Given the description of an element on the screen output the (x, y) to click on. 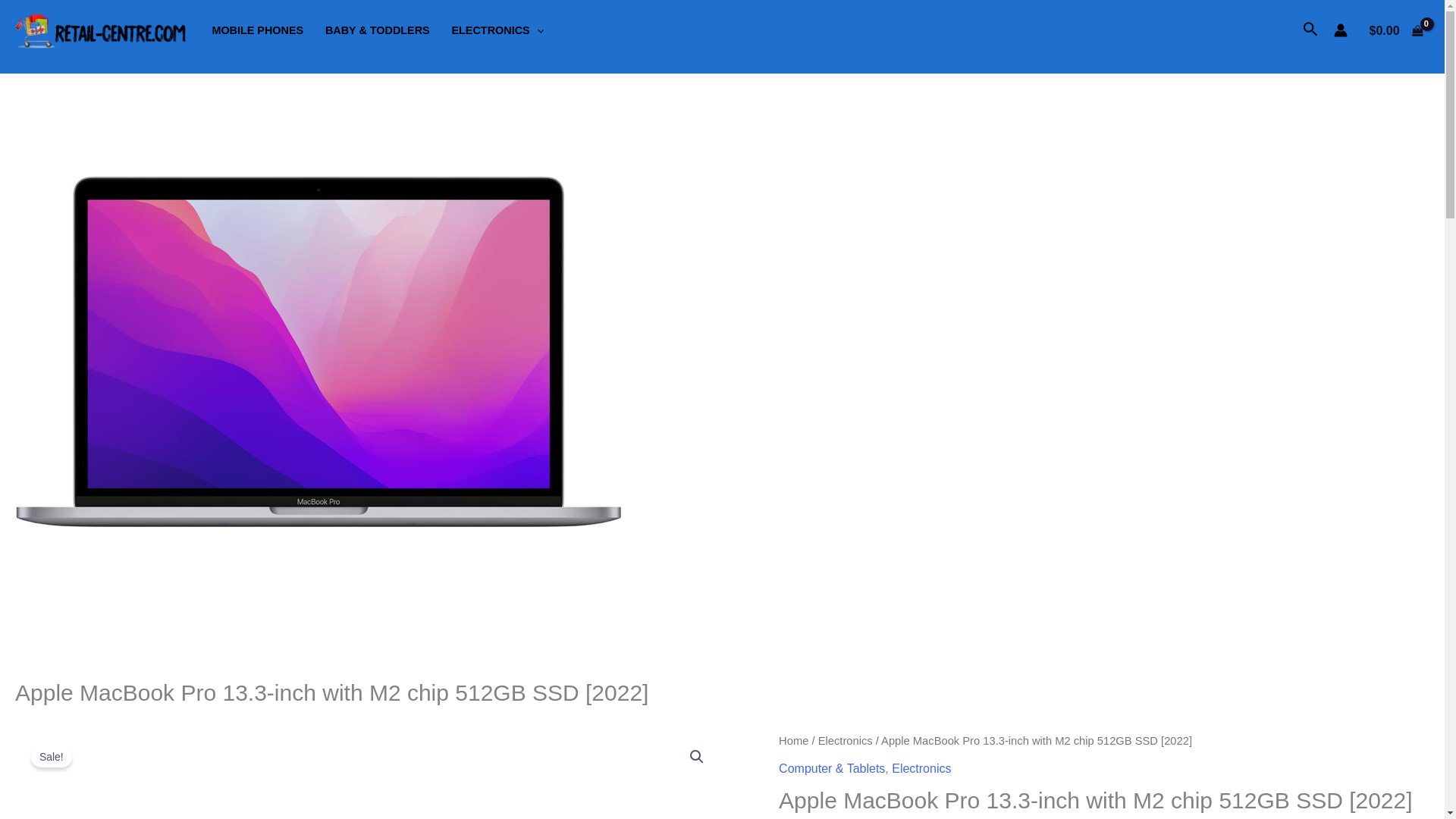
ELECTRONICS (497, 30)
Electronics (920, 768)
231344-L-HI (368, 775)
Home (793, 740)
MOBILE PHONES (257, 30)
Electronics (845, 740)
